Given the description of an element on the screen output the (x, y) to click on. 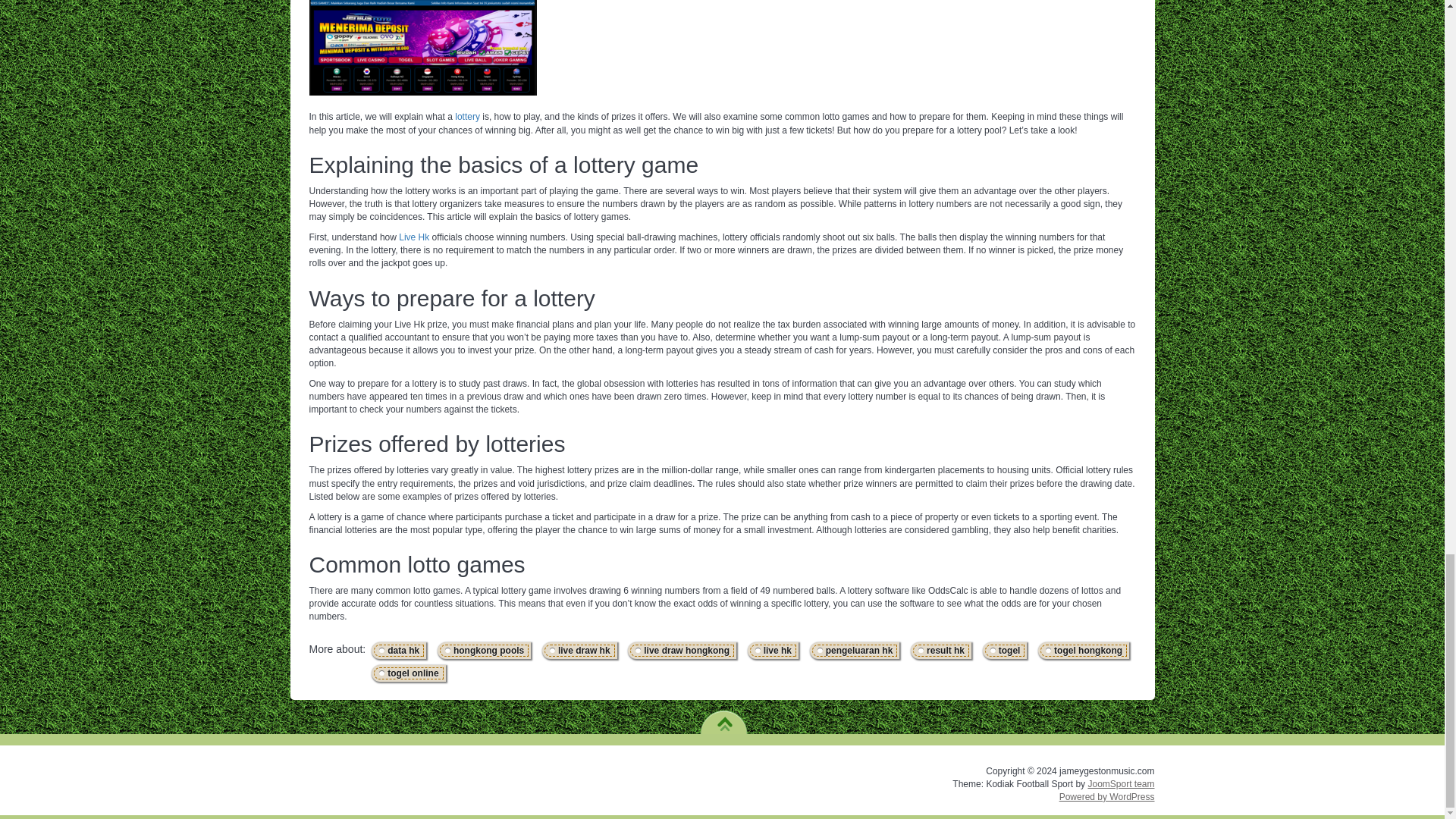
lottery (467, 116)
data hk (398, 650)
 The Best WordPress Sport Plugin for your league and club  (1120, 783)
Live Hk (413, 236)
